Given the description of an element on the screen output the (x, y) to click on. 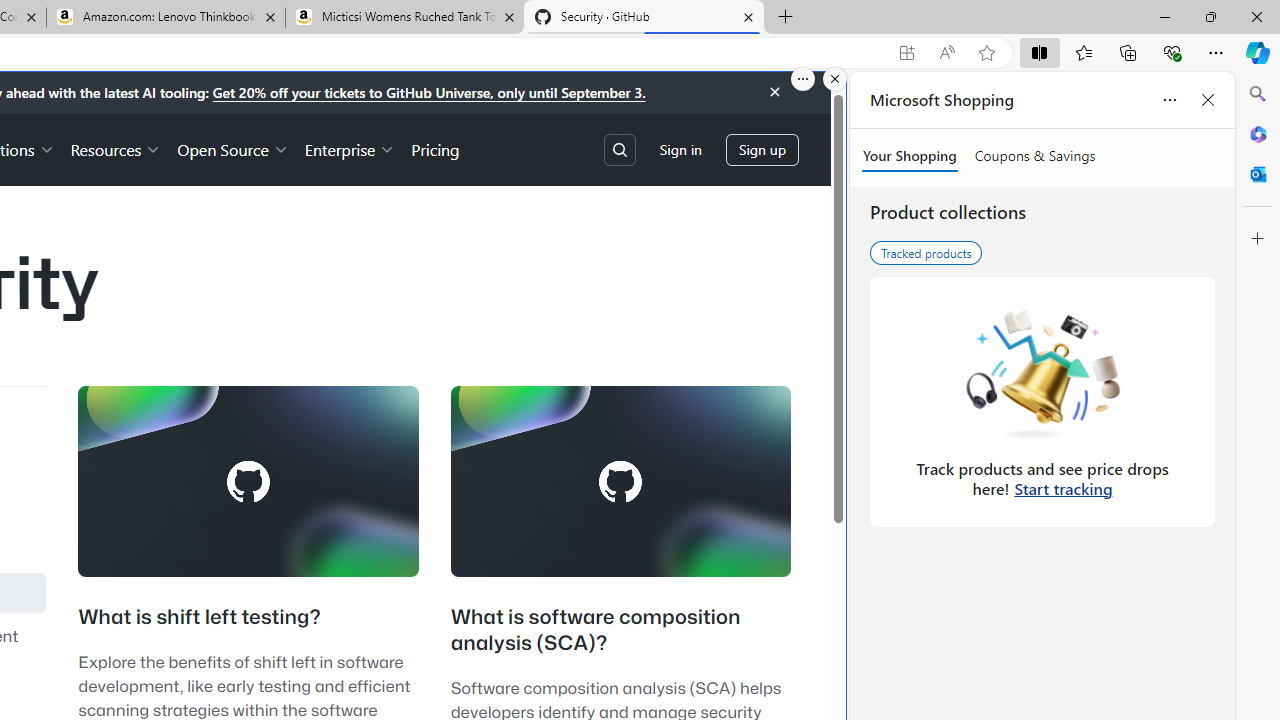
Enterprise (349, 148)
Open Source (232, 148)
Open Source (232, 148)
Close split screen. (835, 79)
App available. Install  (906, 53)
